Given the description of an element on the screen output the (x, y) to click on. 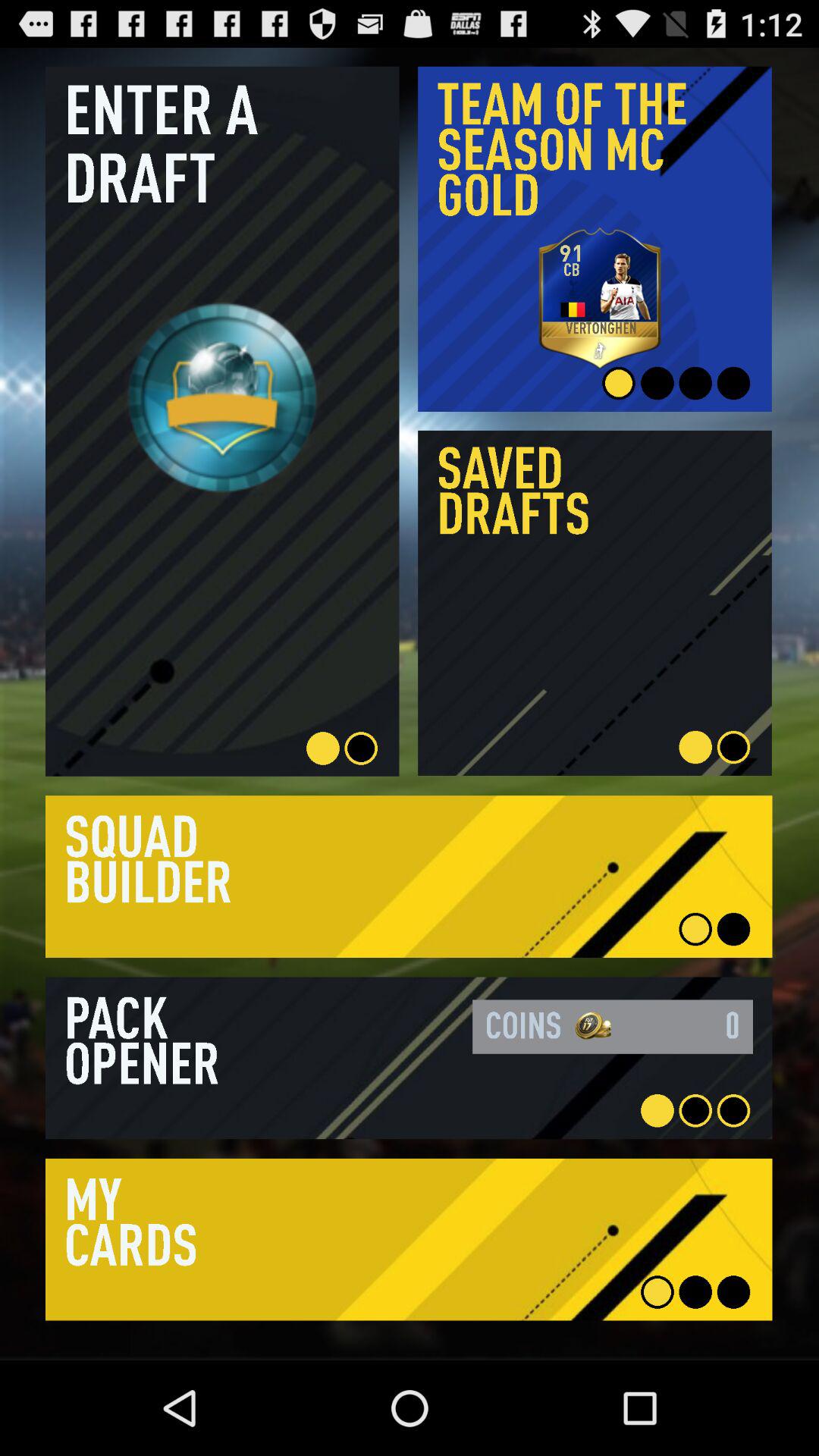
click the saved drafts box (594, 602)
